Given the description of an element on the screen output the (x, y) to click on. 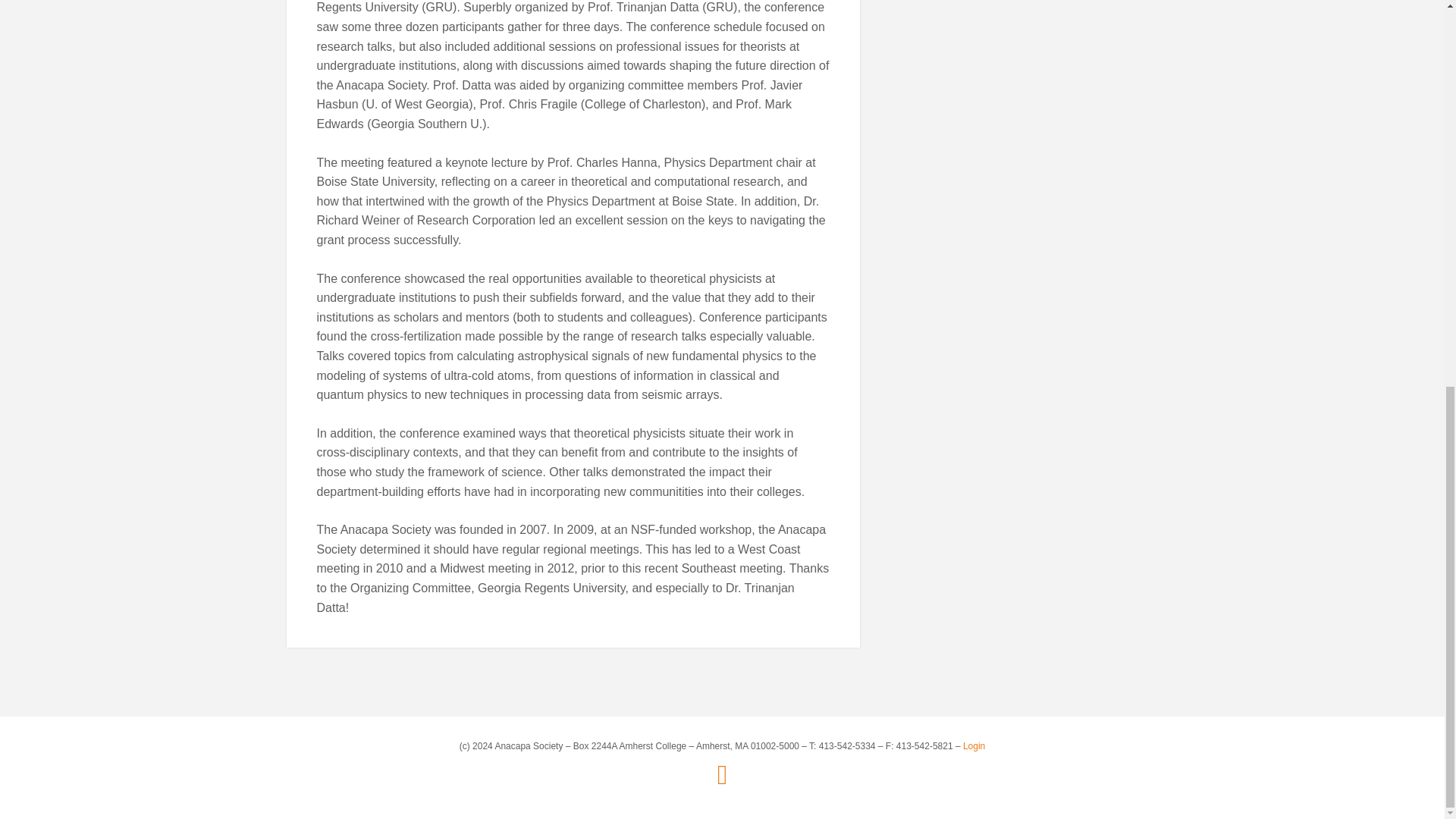
Login (973, 746)
